Given the description of an element on the screen output the (x, y) to click on. 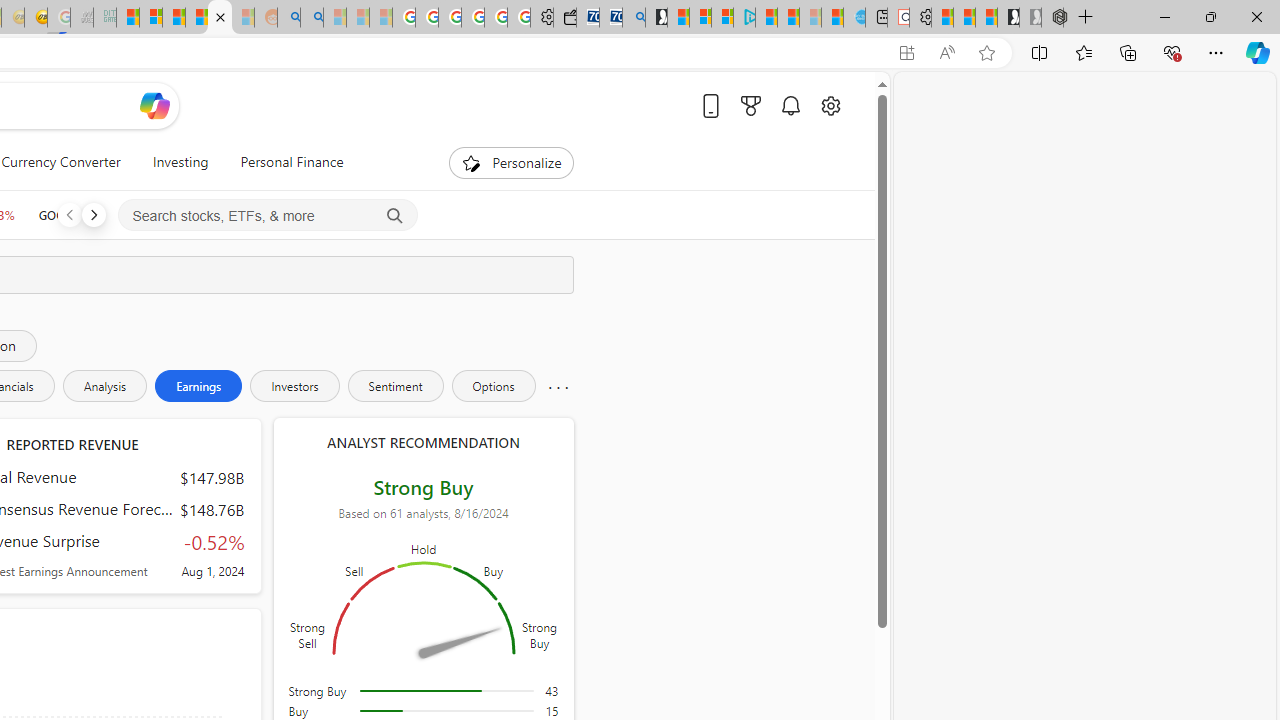
Cheap Car Rentals - Save70.com (611, 17)
Sentiment (395, 385)
Investing (180, 162)
Personal Finance (292, 162)
GOOG ALPHABET INC. decrease 165.49 -2.14 -1.28% (84, 214)
